Given the description of an element on the screen output the (x, y) to click on. 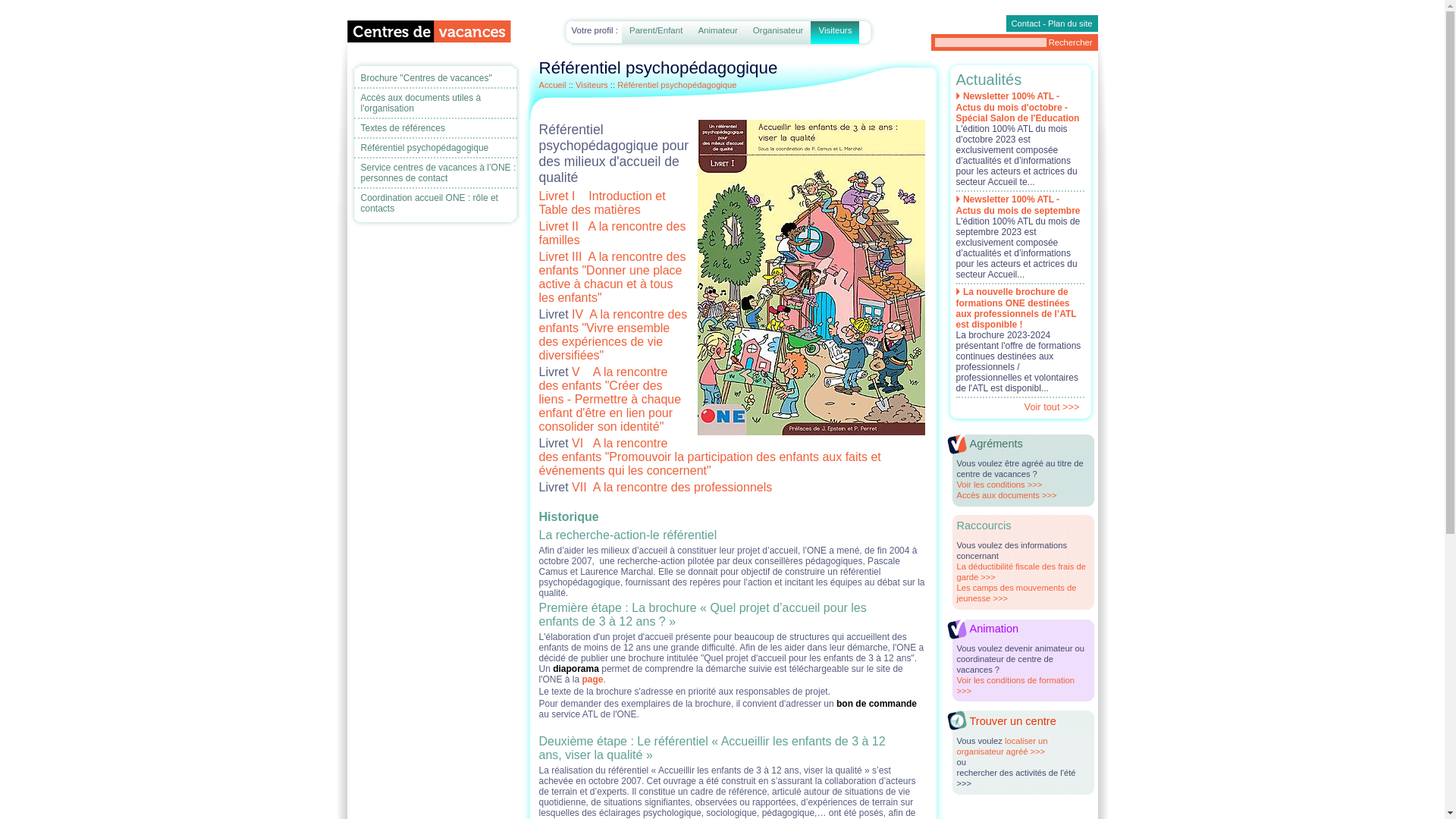
Plan du site Element type: text (1070, 23)
Voir les conditions de formation >>> Element type: text (1015, 685)
Voir les conditions >>> Element type: text (999, 484)
Accueil Element type: text (551, 84)
Organisateur Element type: text (778, 37)
Rechercher Element type: hover (1070, 42)
Contact Element type: text (1026, 23)
Animateur Element type: text (717, 37)
Rechercher sur le site Element type: hover (1013, 42)
Voir tout >>> Element type: text (1019, 405)
Rechercher Element type: text (1070, 42)
Brochure "Centres de vacances" Element type: text (438, 77)
Logo du Centre de vacances Element type: hover (429, 31)
Newsletter 100% ATL - Actus du mois de septembre Element type: text (1017, 203)
Visiteurs Element type: text (834, 37)
bon de commande Element type: text (876, 703)
Visiteurs Element type: text (591, 84)
page Element type: text (591, 679)
Les camps des mouvements de jeunesse >>> Element type: text (1016, 592)
VII  A la rencontre des professionnels Element type: text (670, 486)
Livret II   A la rencontre des familles Element type: text (611, 232)
Parent/Enfant Element type: text (655, 37)
